Given the description of an element on the screen output the (x, y) to click on. 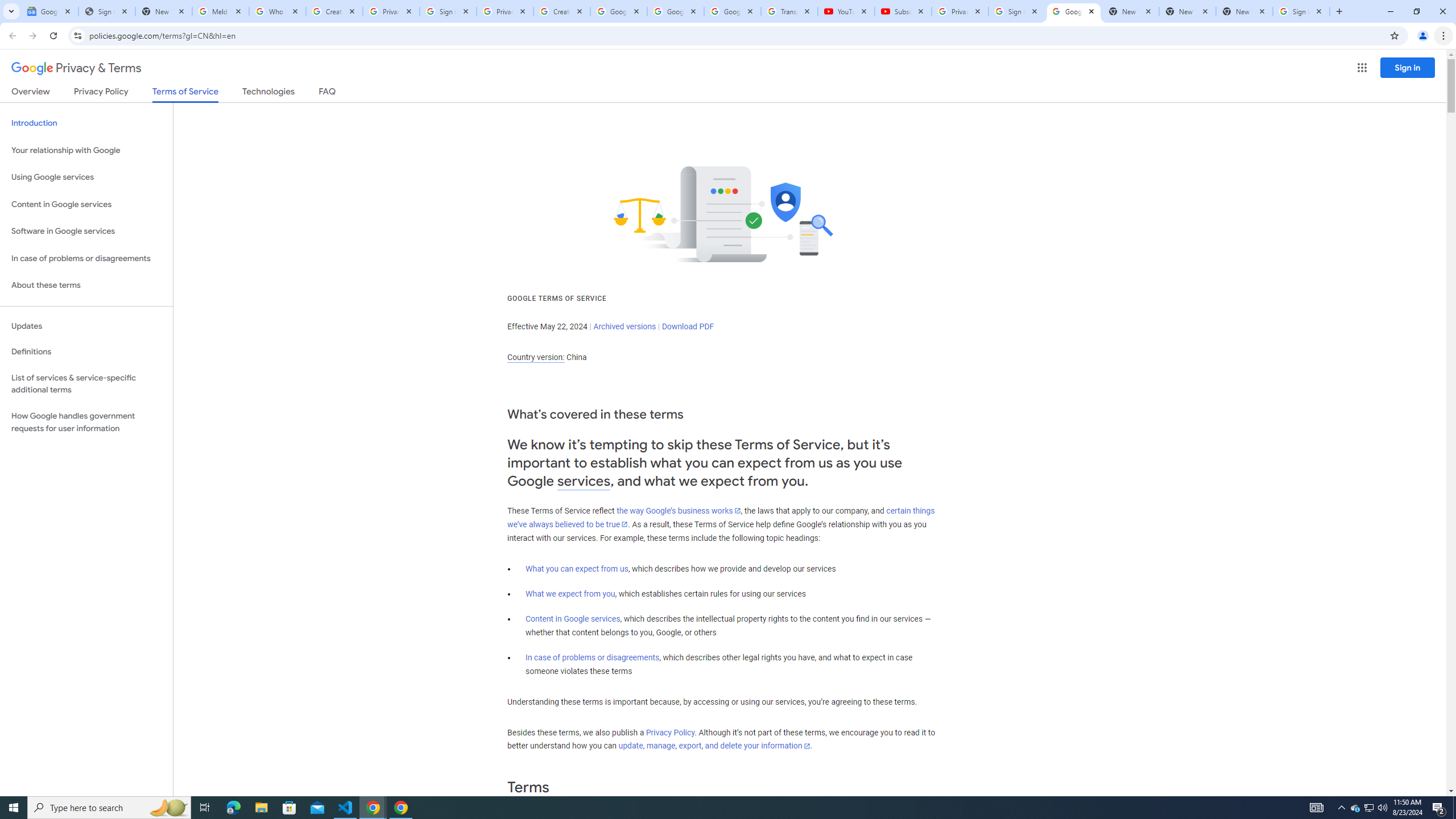
YouTube (845, 11)
update, manage, export, and delete your information (714, 746)
What you can expect from us (576, 568)
Country version: (535, 357)
Google Account (731, 11)
Sign in - Google Accounts (447, 11)
Content in Google services (572, 618)
About these terms (86, 284)
